Given the description of an element on the screen output the (x, y) to click on. 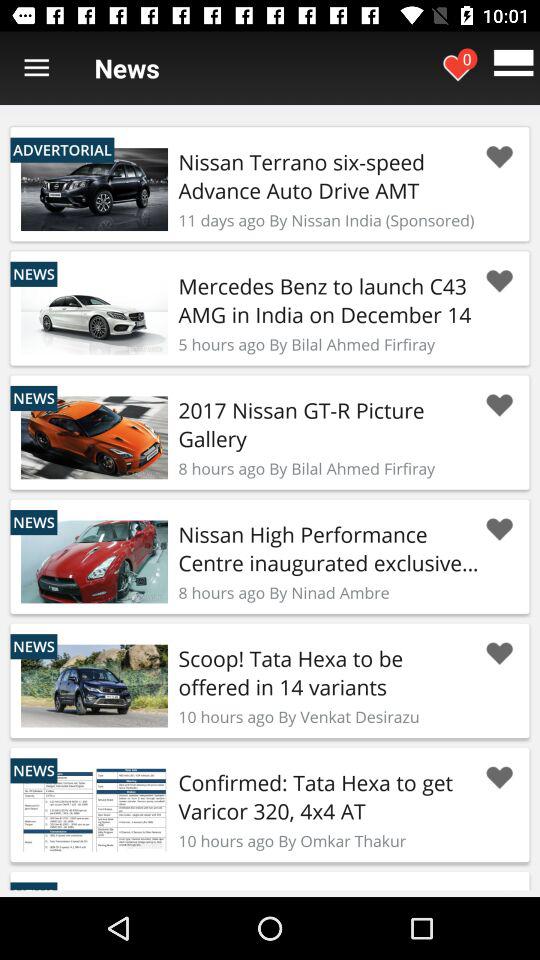
favorite this article (499, 777)
